Given the description of an element on the screen output the (x, y) to click on. 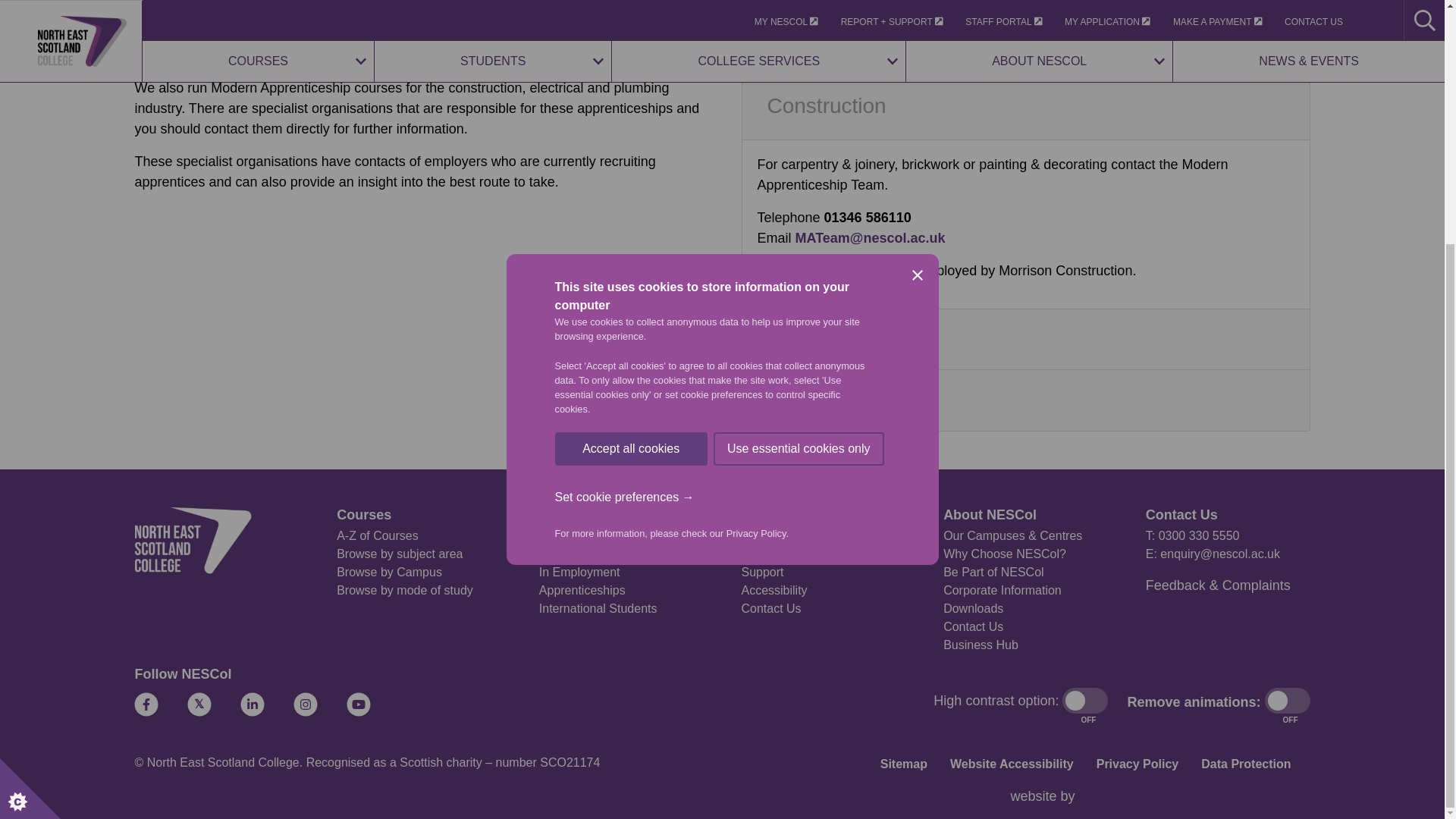
Accept all cookies (630, 493)
LinkedIn (252, 704)
Facebook (145, 704)
Twitter (199, 704)
LinkedIn (252, 704)
Instagram (305, 704)
Instagram (305, 704)
Privacy Policy (756, 428)
Youtube (358, 704)
Facebook (145, 704)
